Given the description of an element on the screen output the (x, y) to click on. 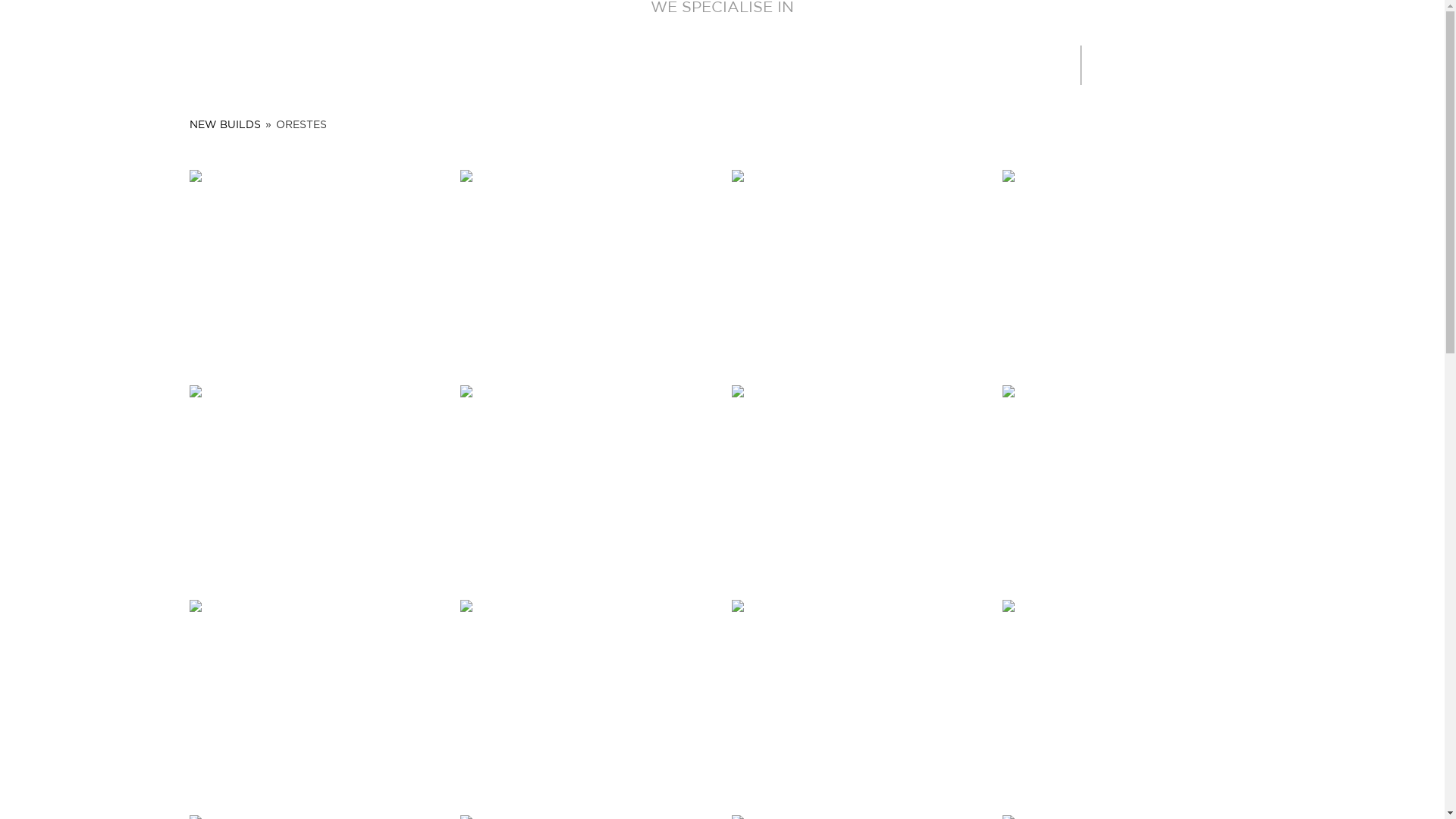
Orestes Element type: hover (1128, 483)
MEDIA Element type: text (842, 62)
TESTIMONIALS Element type: text (737, 62)
Orestes Element type: hover (315, 483)
Orestes Element type: hover (586, 483)
Orestes Element type: hover (315, 697)
08 9584 4644 Element type: text (1157, 65)
Orestes Element type: hover (857, 697)
Orestes Element type: hover (1128, 697)
Orestes Element type: hover (586, 697)
REQUEST A MEETING Element type: text (1329, 65)
Orestes Element type: hover (857, 483)
Orestes Element type: hover (1128, 267)
CONTACT Element type: text (933, 62)
Orestes Element type: hover (315, 267)
SERVICES Element type: text (617, 62)
HOME Element type: text (440, 62)
Orestes Element type: hover (586, 267)
Orestes Element type: hover (857, 267)
ABOUT Element type: text (520, 62)
NEW BUILDS Element type: text (224, 124)
